Given the description of an element on the screen output the (x, y) to click on. 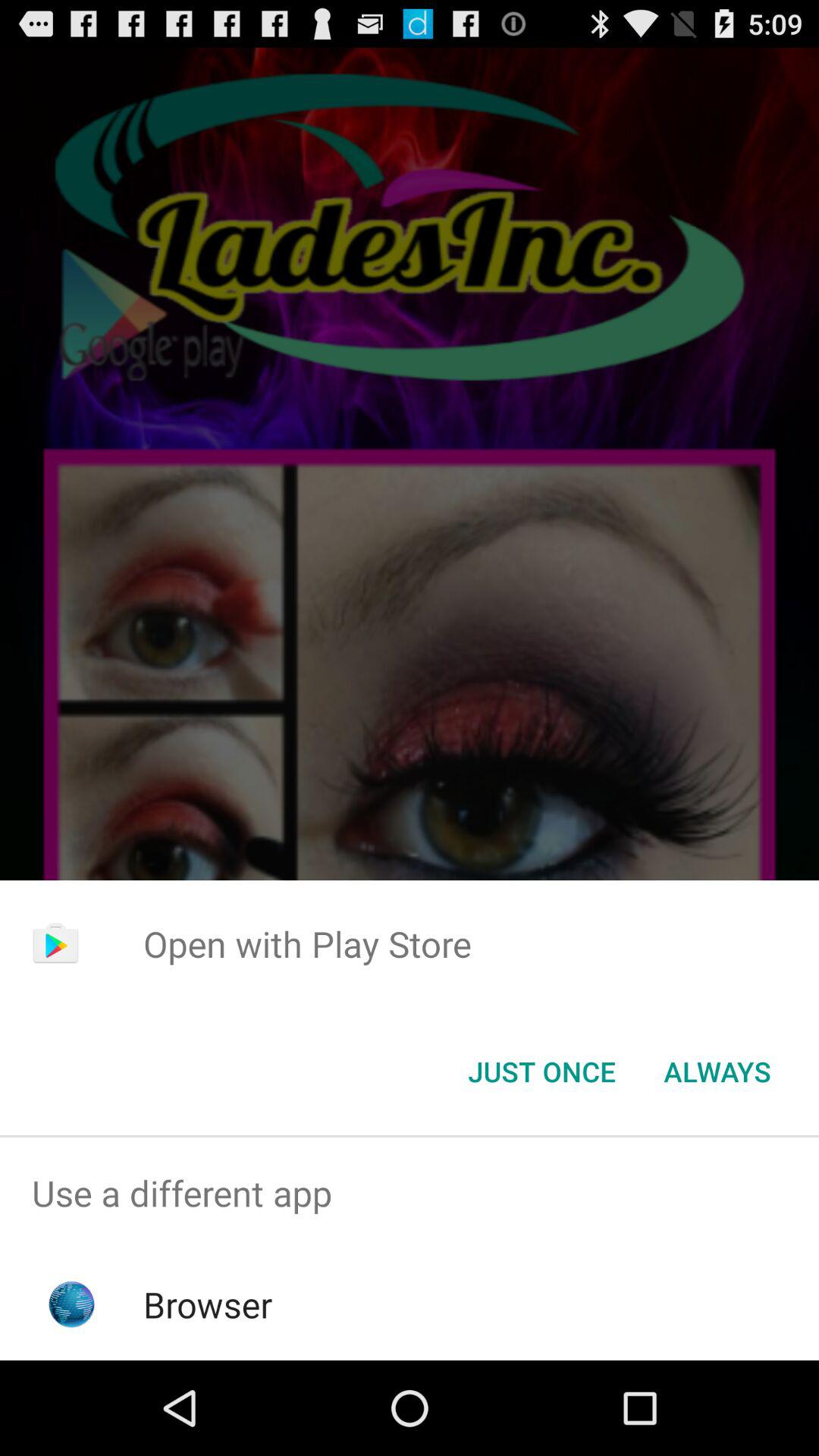
press the always at the bottom right corner (717, 1071)
